Given the description of an element on the screen output the (x, y) to click on. 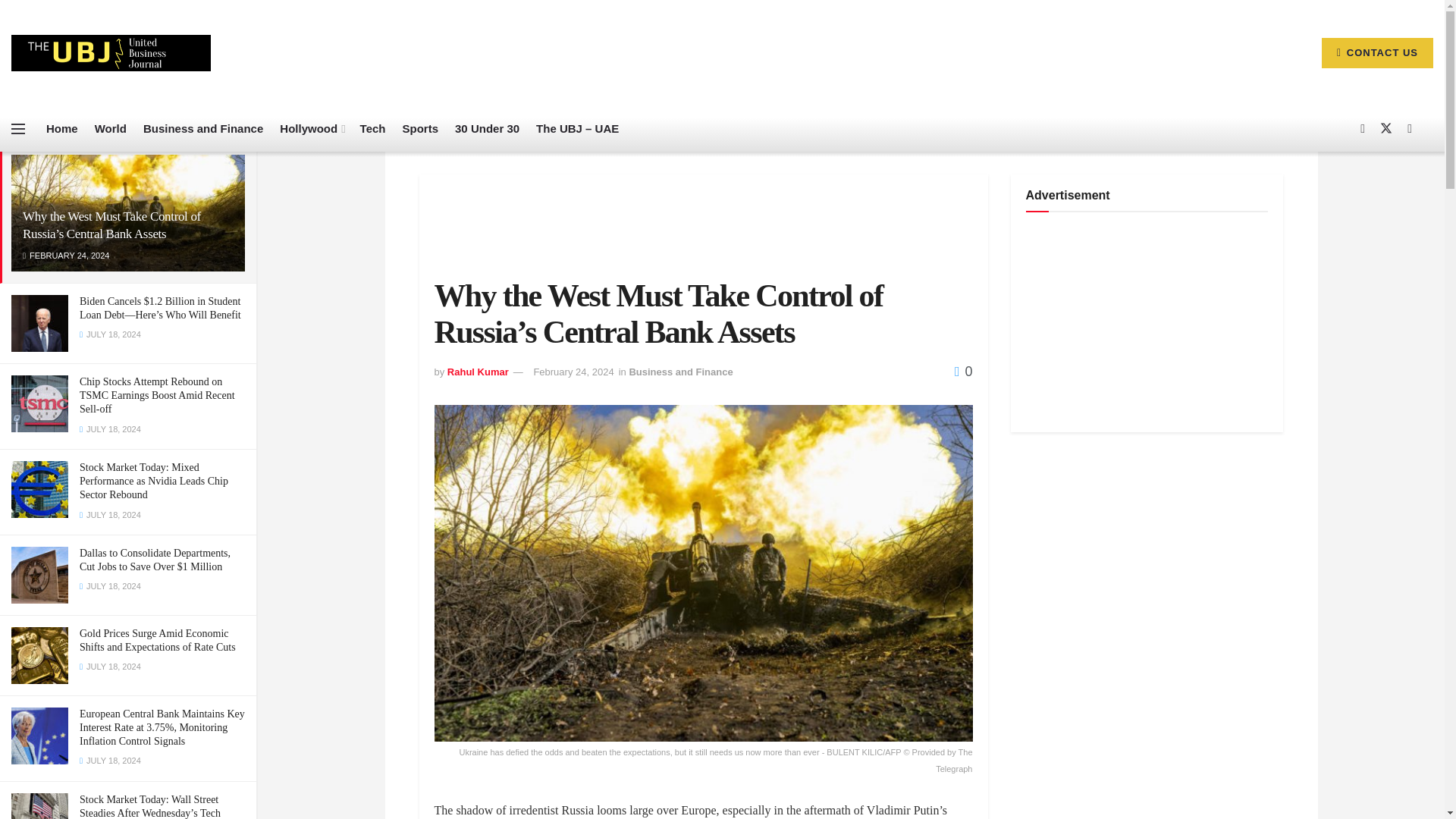
Hollywood (310, 128)
Filter (227, 127)
Business and Finance (202, 128)
CONTACT US (1377, 52)
